Given the description of an element on the screen output the (x, y) to click on. 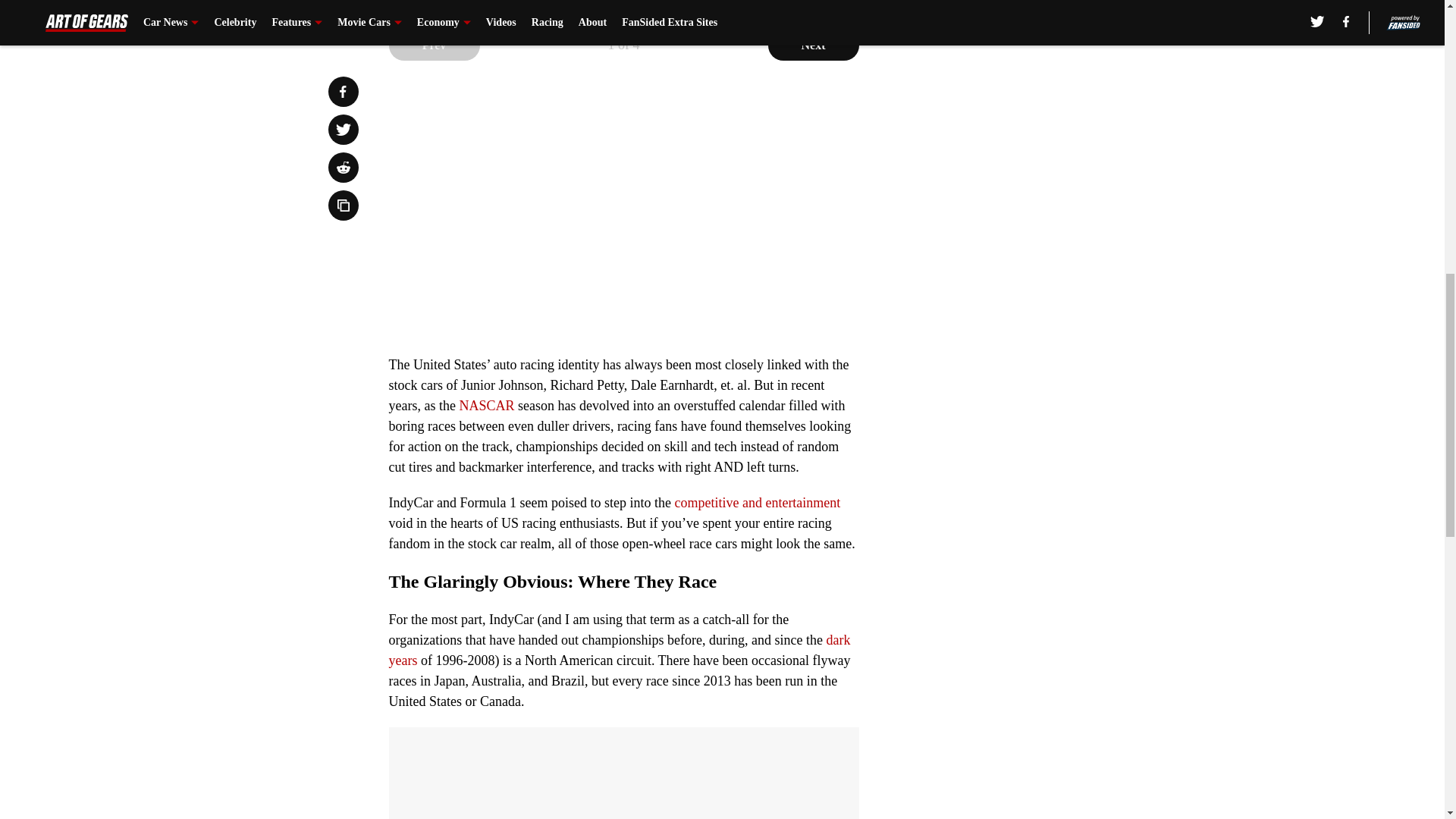
Next (813, 45)
competitive and entertainment (757, 502)
dark years (619, 650)
Prev (433, 45)
NASCAR (485, 405)
